Given the description of an element on the screen output the (x, y) to click on. 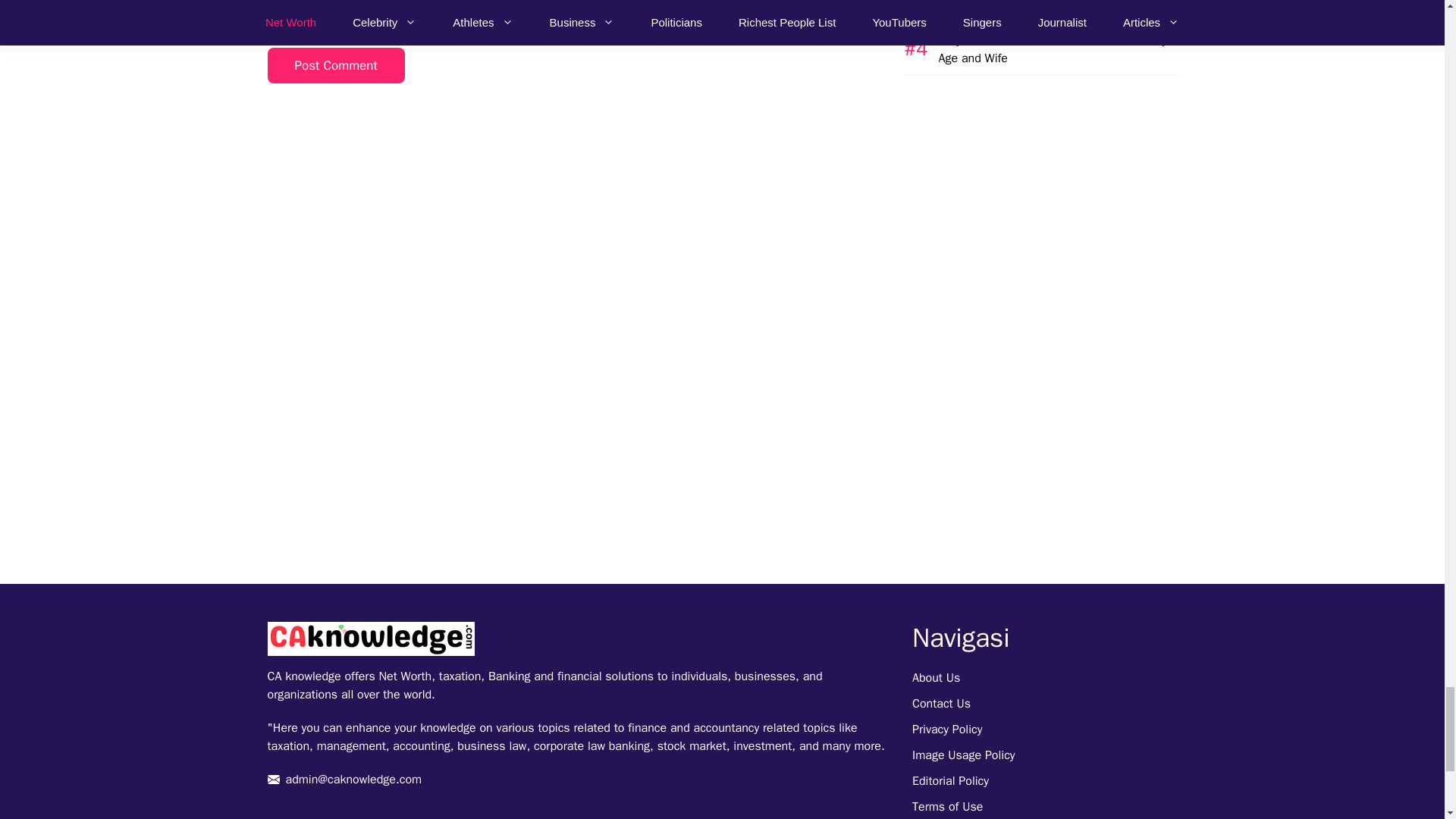
Post Comment (335, 65)
